Given the description of an element on the screen output the (x, y) to click on. 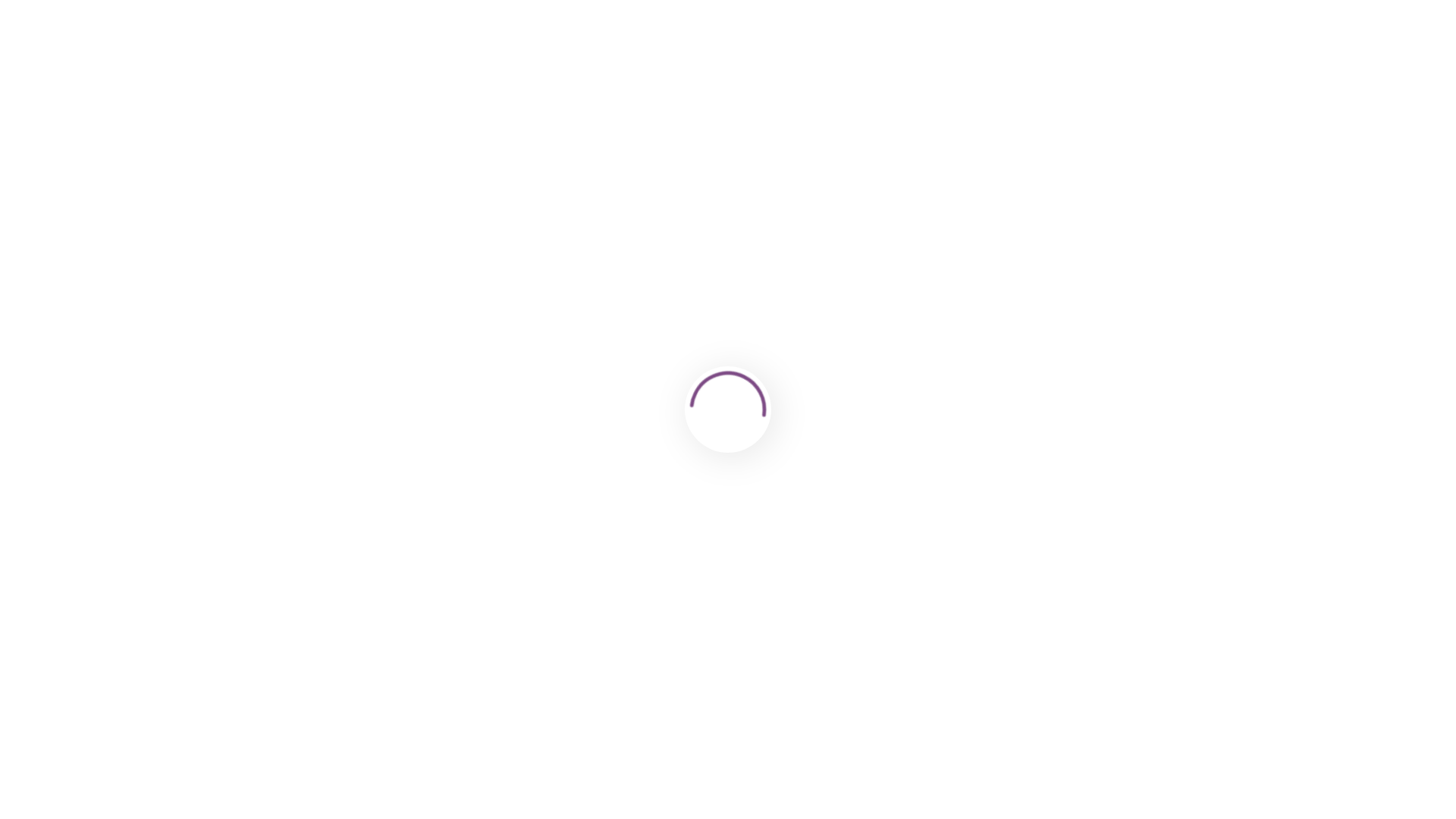
About Element type: text (83, 371)
Terms of use Element type: text (102, 533)
NEWSLETTERS Element type: text (713, 59)
Members Car Stories Links & Other AMC Links Element type: text (194, 428)
HOME Element type: text (445, 59)
AMCAlberta Element type: text (78, 58)
Become a Member Element type: text (120, 443)
FOR SALE Element type: text (1294, 59)
For Sale Element type: text (89, 457)
Contact Element type: text (88, 471)
Home Element type: text (53, 161)
ABOUT Element type: text (500, 59)
Blog Element type: text (79, 385)
BECOME A MEMBER Element type: text (1184, 59)
Home Element type: text (83, 356)
MEETINGS Element type: text (619, 59)
Newsletters Element type: text (99, 414)
CONTACT Element type: text (1391, 58)
Privacy Policy Element type: text (105, 548)
MEMBERS CAR STORIES LINKS & OTHER AMC LINKS Element type: text (939, 59)
BLOG Element type: text (555, 59)
Meetings Element type: text (91, 399)
